Given the description of an element on the screen output the (x, y) to click on. 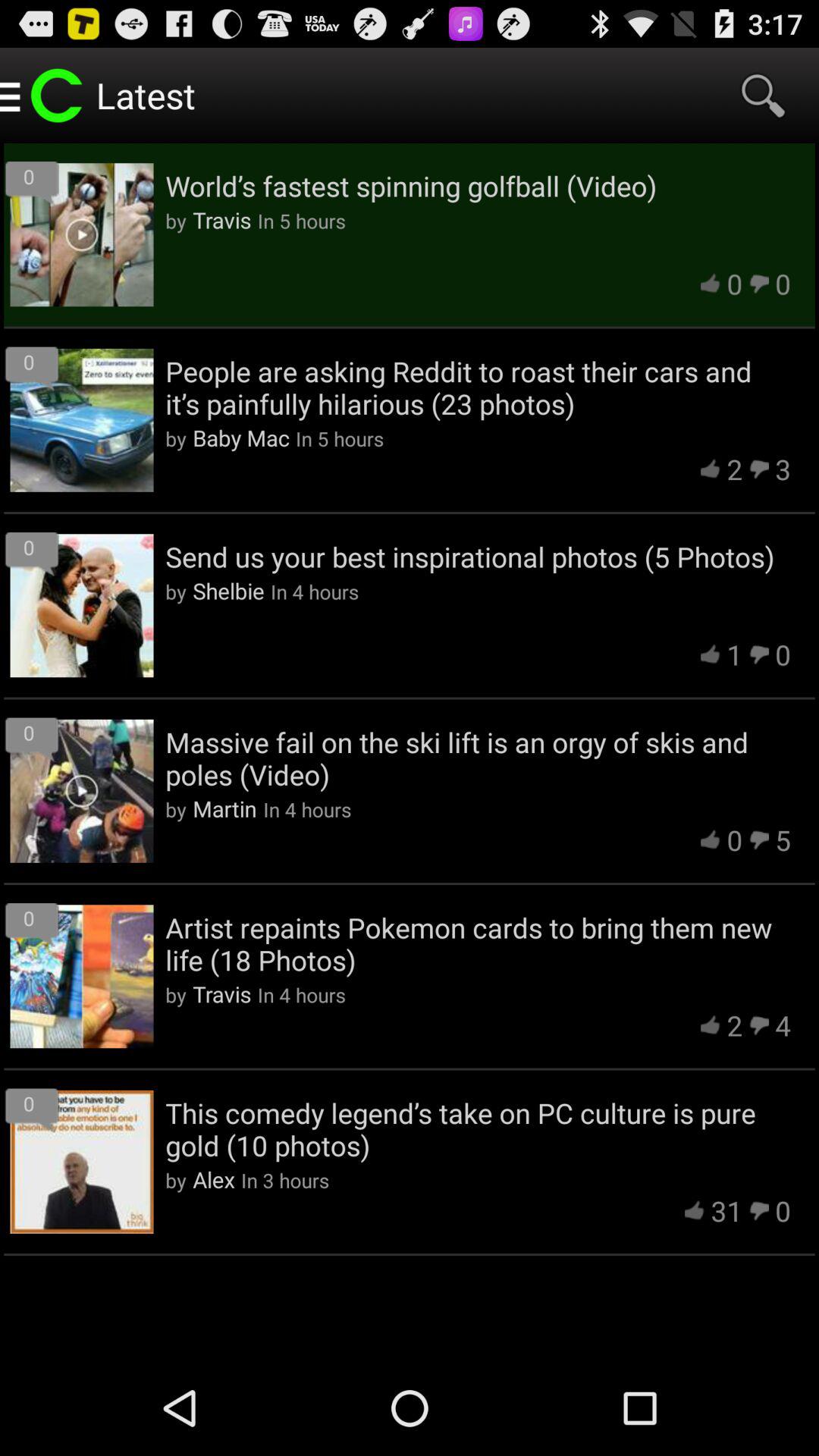
click app above the travis app (478, 943)
